Given the description of an element on the screen output the (x, y) to click on. 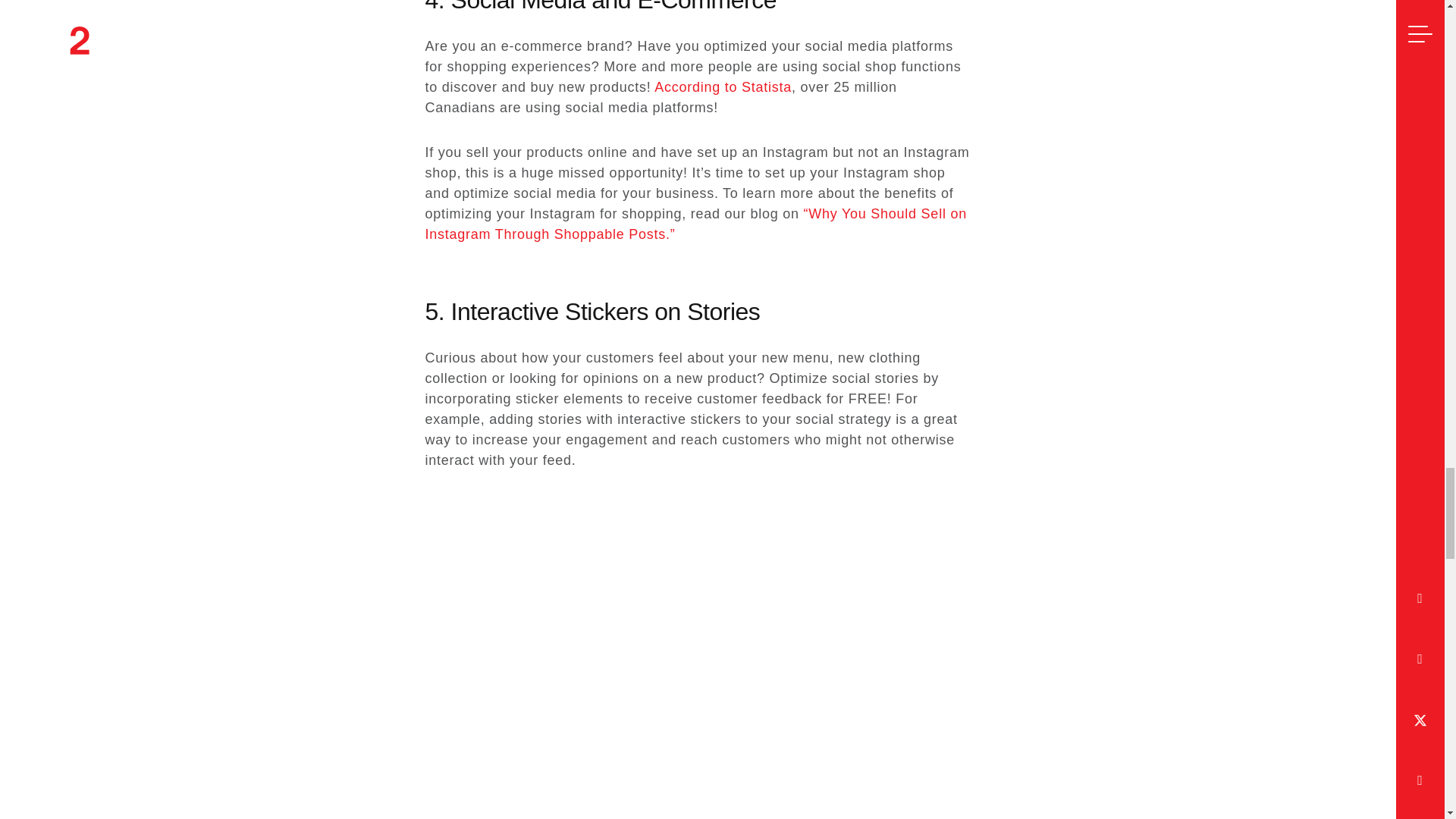
According to Statista (722, 87)
